Given the description of an element on the screen output the (x, y) to click on. 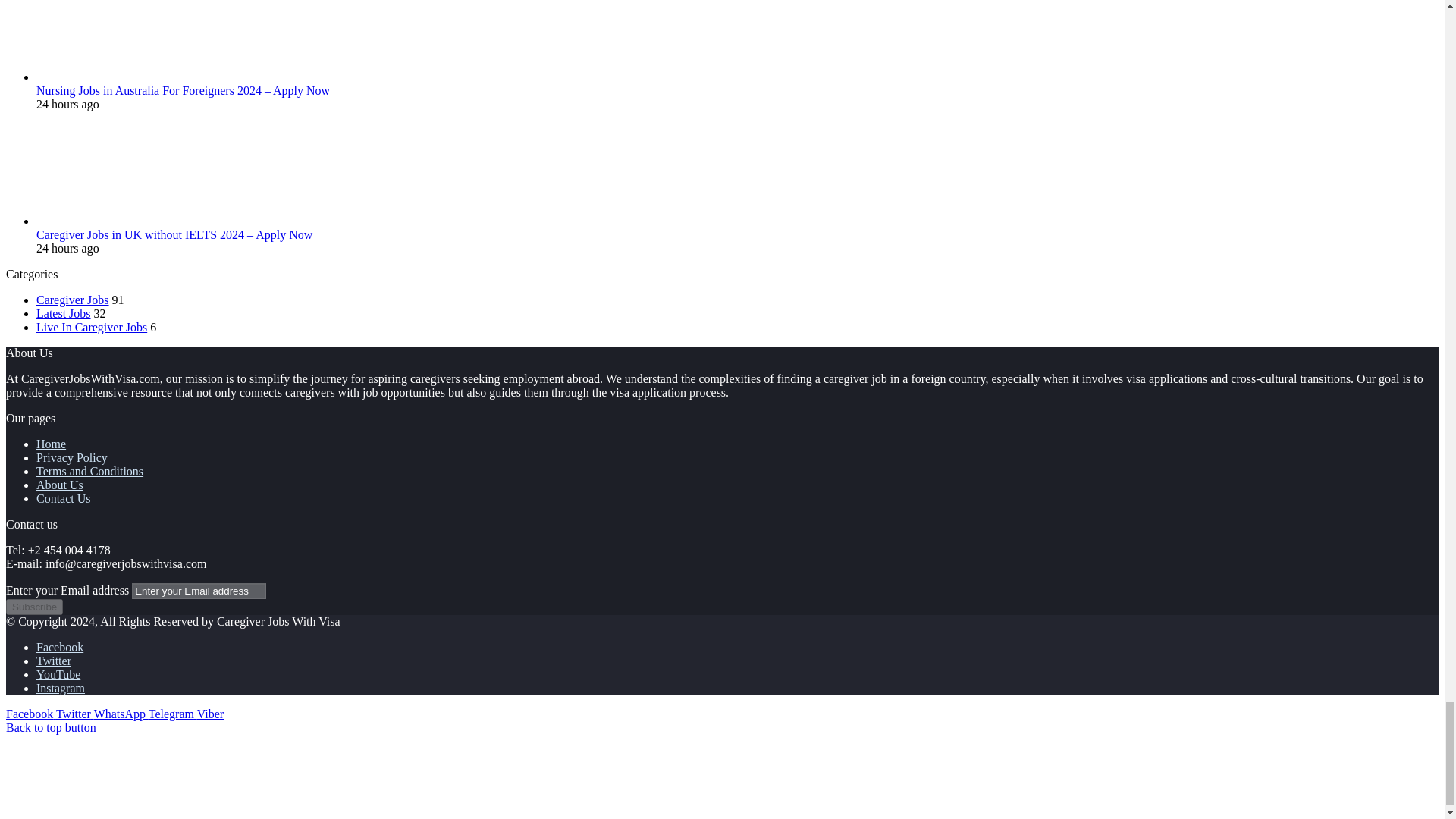
Subscribe (33, 606)
